Given the description of an element on the screen output the (x, y) to click on. 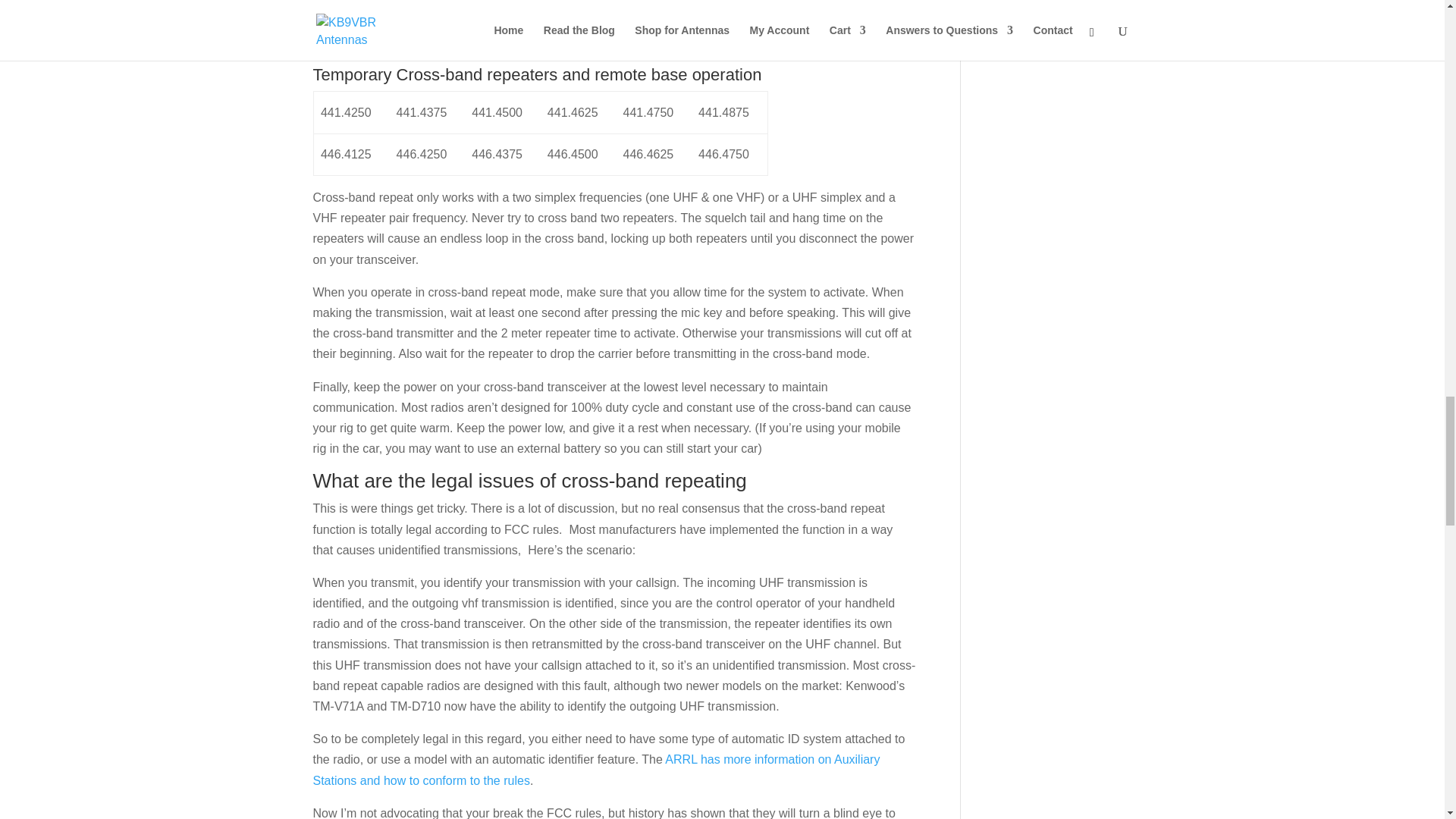
Wisconsin Association of Repeaters (598, 14)
